Given the description of an element on the screen output the (x, y) to click on. 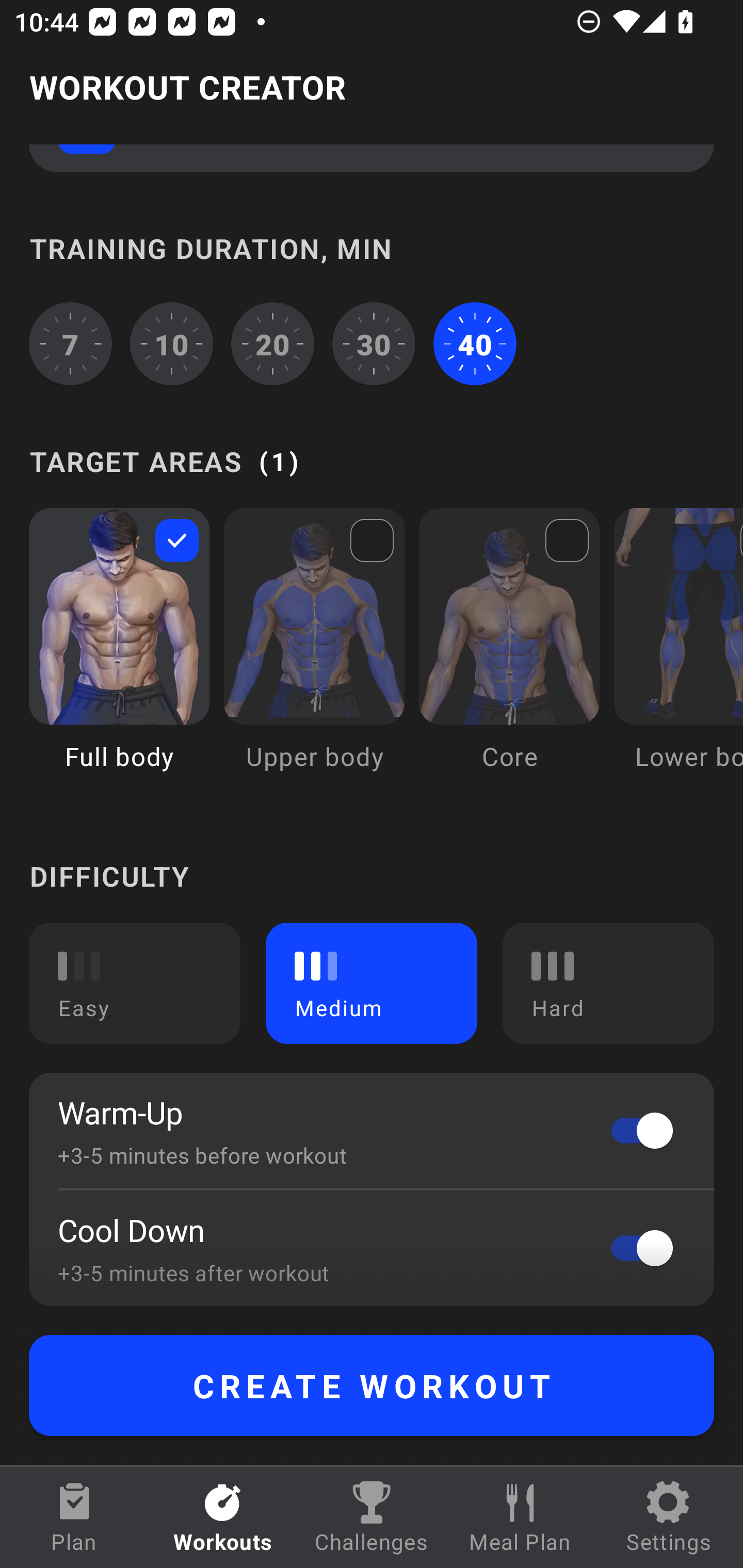
7 (70, 344)
10 (171, 344)
20 (272, 344)
30 (373, 344)
40 (474, 344)
Upper body (313, 653)
Core (509, 653)
Lower body (678, 653)
Easy (134, 982)
Hard (608, 982)
CREATE WORKOUT (371, 1385)
 Plan  (74, 1517)
 Challenges  (371, 1517)
 Meal Plan  (519, 1517)
 Settings  (668, 1517)
